Given the description of an element on the screen output the (x, y) to click on. 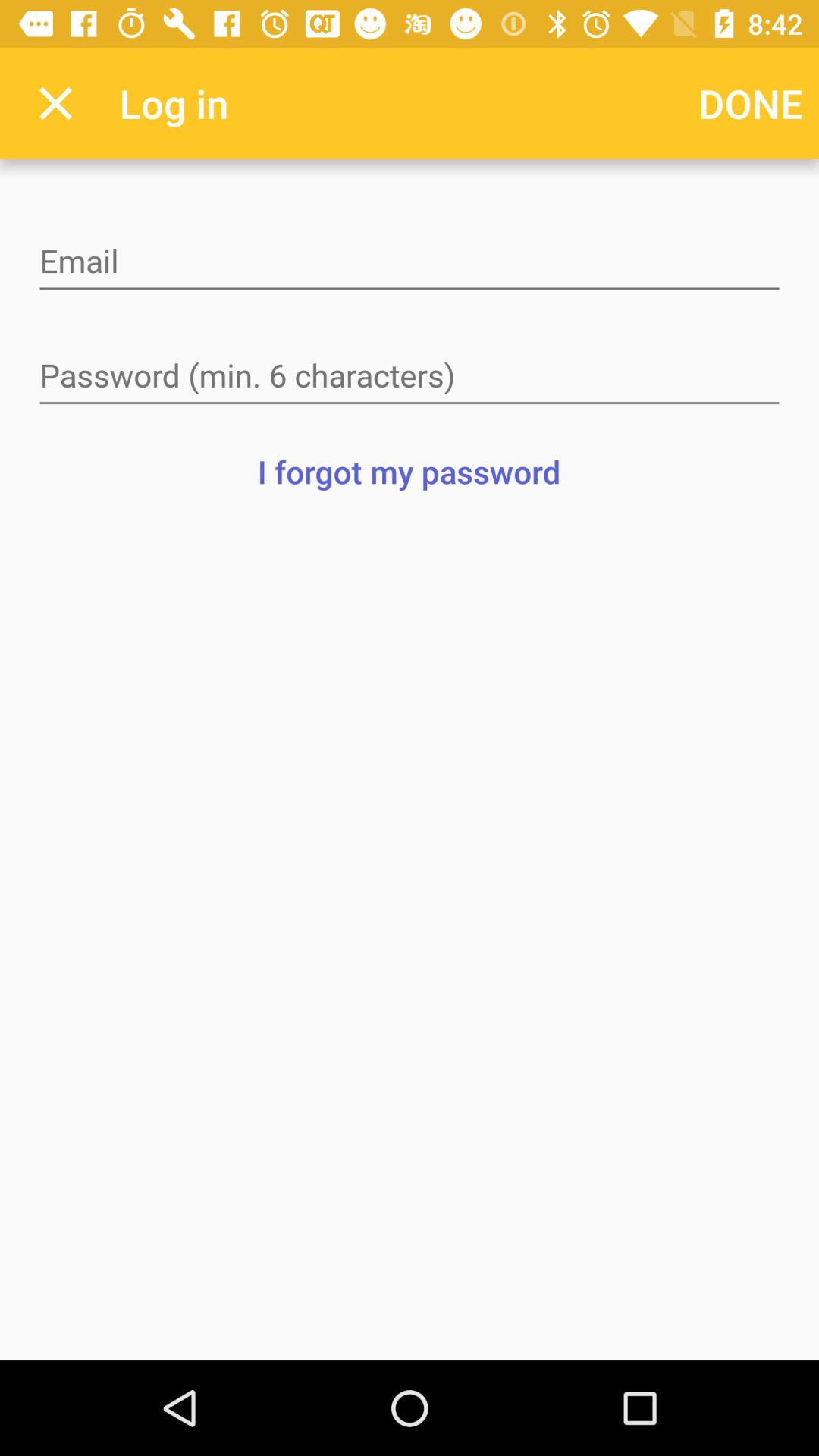
password text box (409, 376)
